Given the description of an element on the screen output the (x, y) to click on. 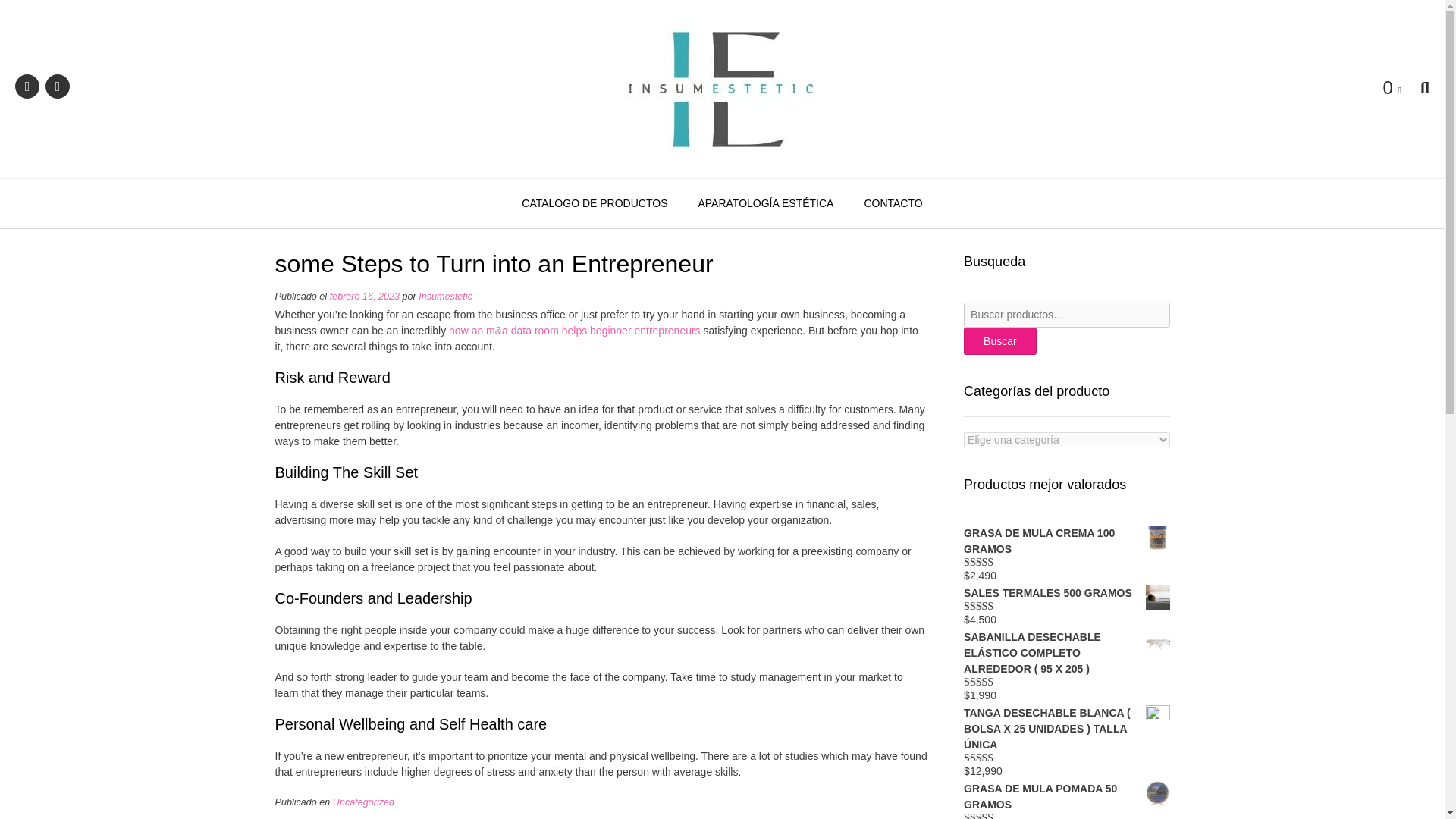
Uncategorized (363, 801)
GRASA DE MULA CREMA 100 GRAMOS (1066, 541)
Buscar (999, 340)
febrero 16, 2023 (364, 296)
CONTACTO (892, 204)
Insumestetic (721, 88)
GRASA DE MULA POMADA 50 GRAMOS (1066, 797)
SALES TERMALES 500 GRAMOS (1066, 593)
Insumestetic (445, 296)
CATALOGO DE PRODUCTOS (594, 204)
